Given the description of an element on the screen output the (x, y) to click on. 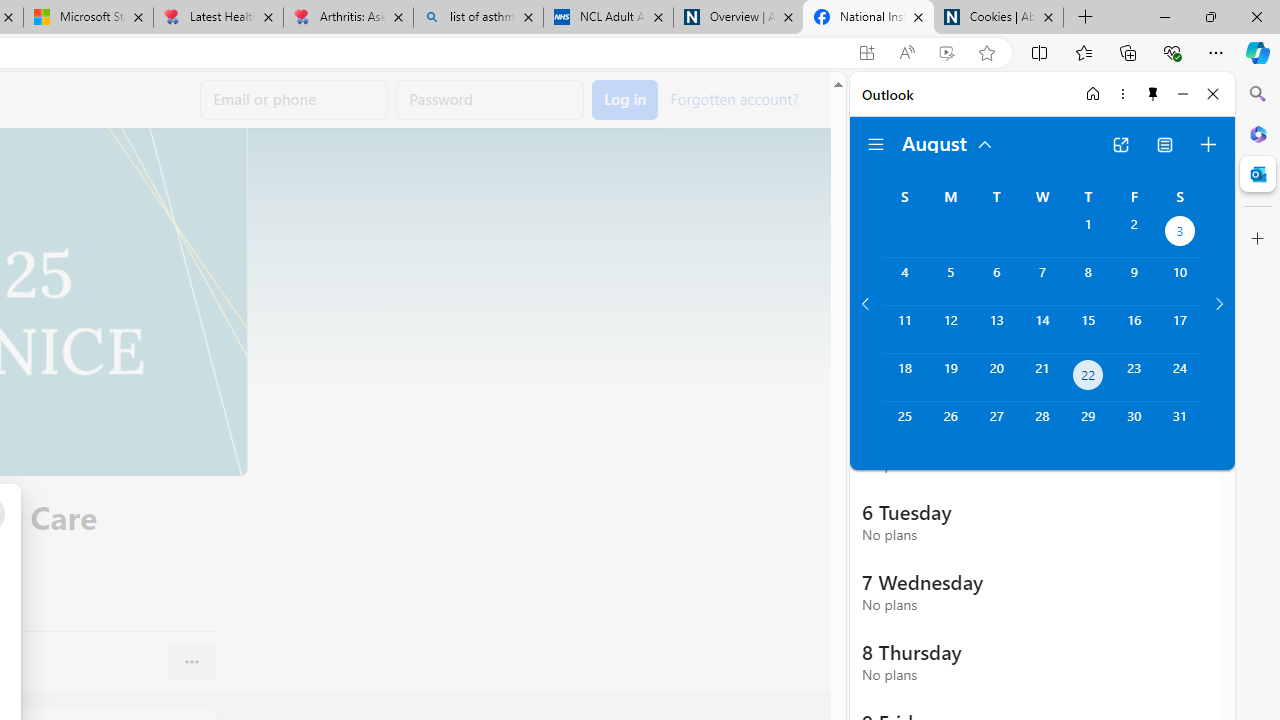
Sunday, August 4, 2024.  (904, 281)
Tuesday, August 6, 2024.  (996, 281)
Folder navigation (876, 144)
Wednesday, August 21, 2024.  (1042, 377)
Forgotten account? (733, 97)
Sunday, August 25, 2024.  (904, 425)
App available. Install Facebook (867, 53)
Thursday, August 29, 2024.  (1088, 425)
Thursday, August 1, 2024.  (1088, 233)
Saturday, August 3, 2024. Date selected.  (1180, 233)
Friday, August 9, 2024.  (1134, 281)
Tuesday, August 27, 2024.  (996, 425)
Cookies | About | NICE (998, 17)
